Given the description of an element on the screen output the (x, y) to click on. 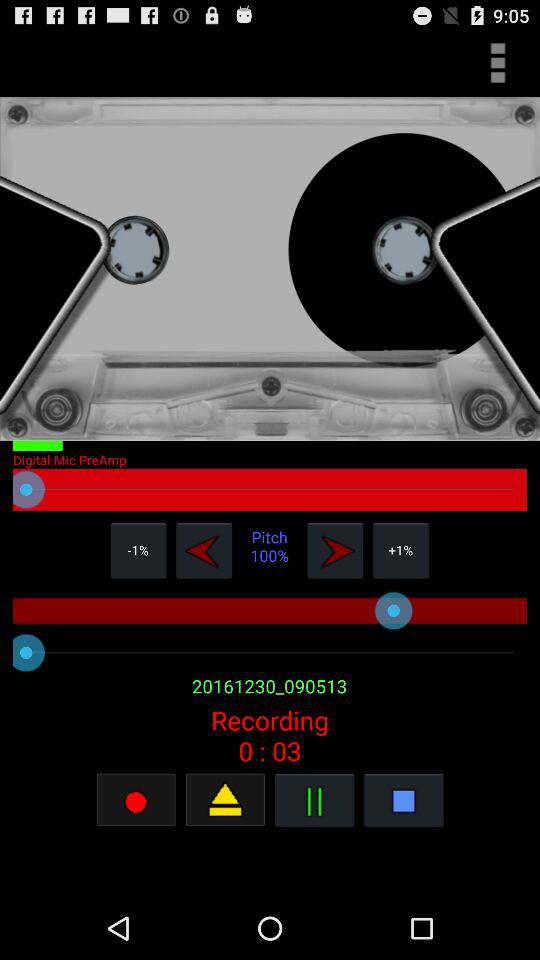
forward the song (335, 550)
